Given the description of an element on the screen output the (x, y) to click on. 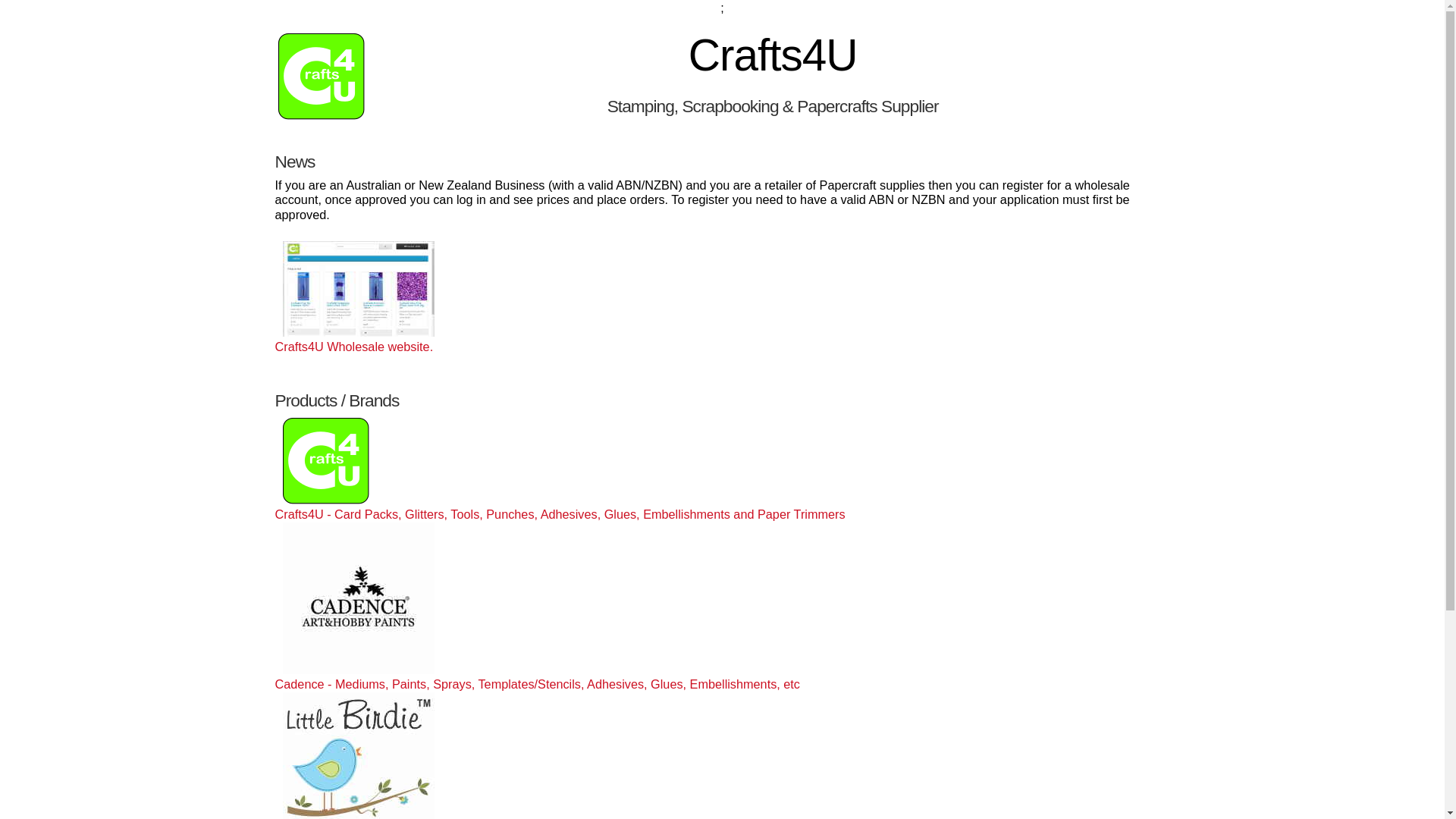
Crafts4U Wholesale website. Element type: text (354, 339)
